Given the description of an element on the screen output the (x, y) to click on. 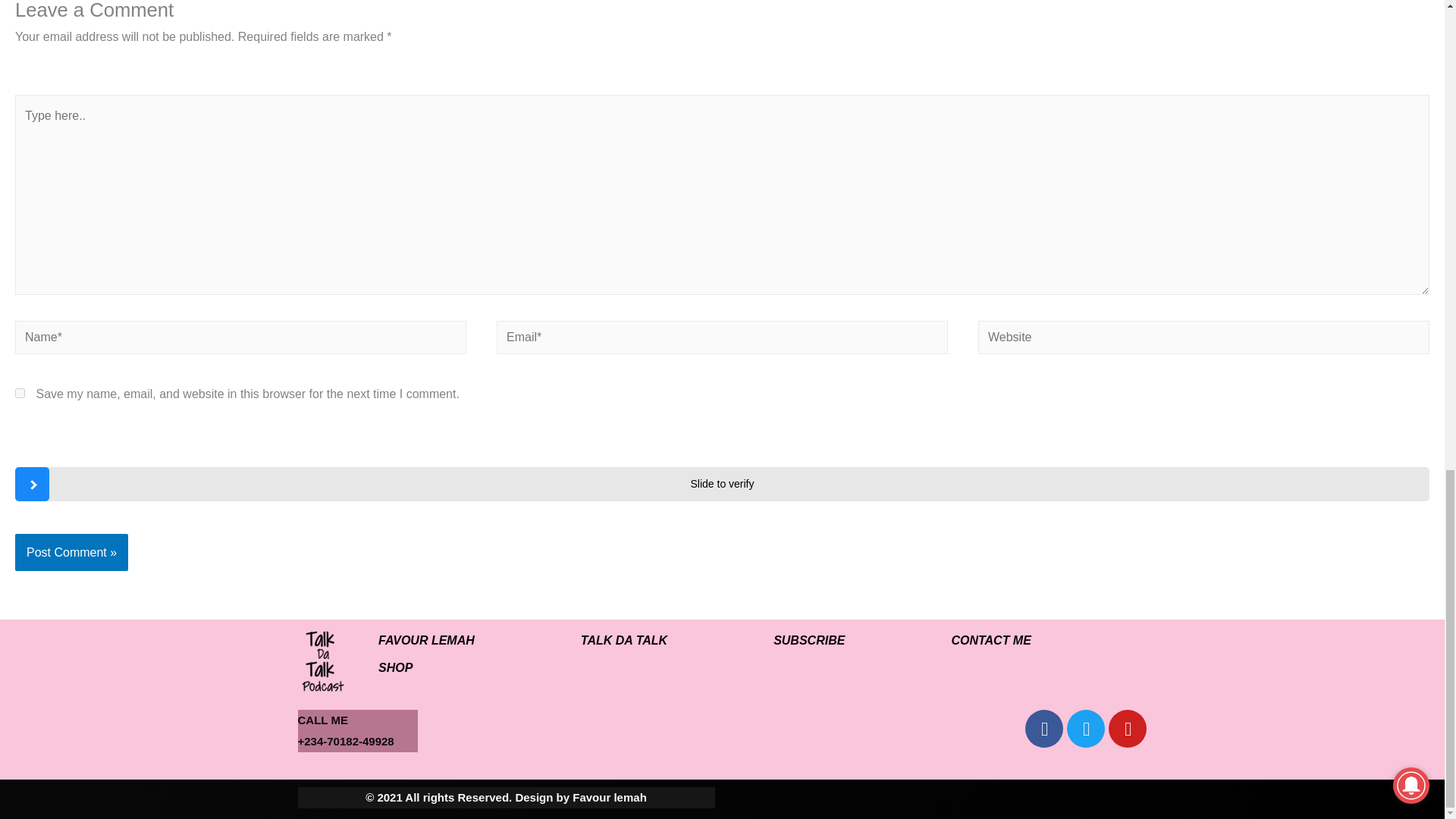
SUBSCRIBE (809, 640)
CONTACT ME (990, 640)
FAVOUR LEMAH (425, 640)
TALK DA TALK (624, 640)
SHOP (395, 667)
yes (19, 393)
